Given the description of an element on the screen output the (x, y) to click on. 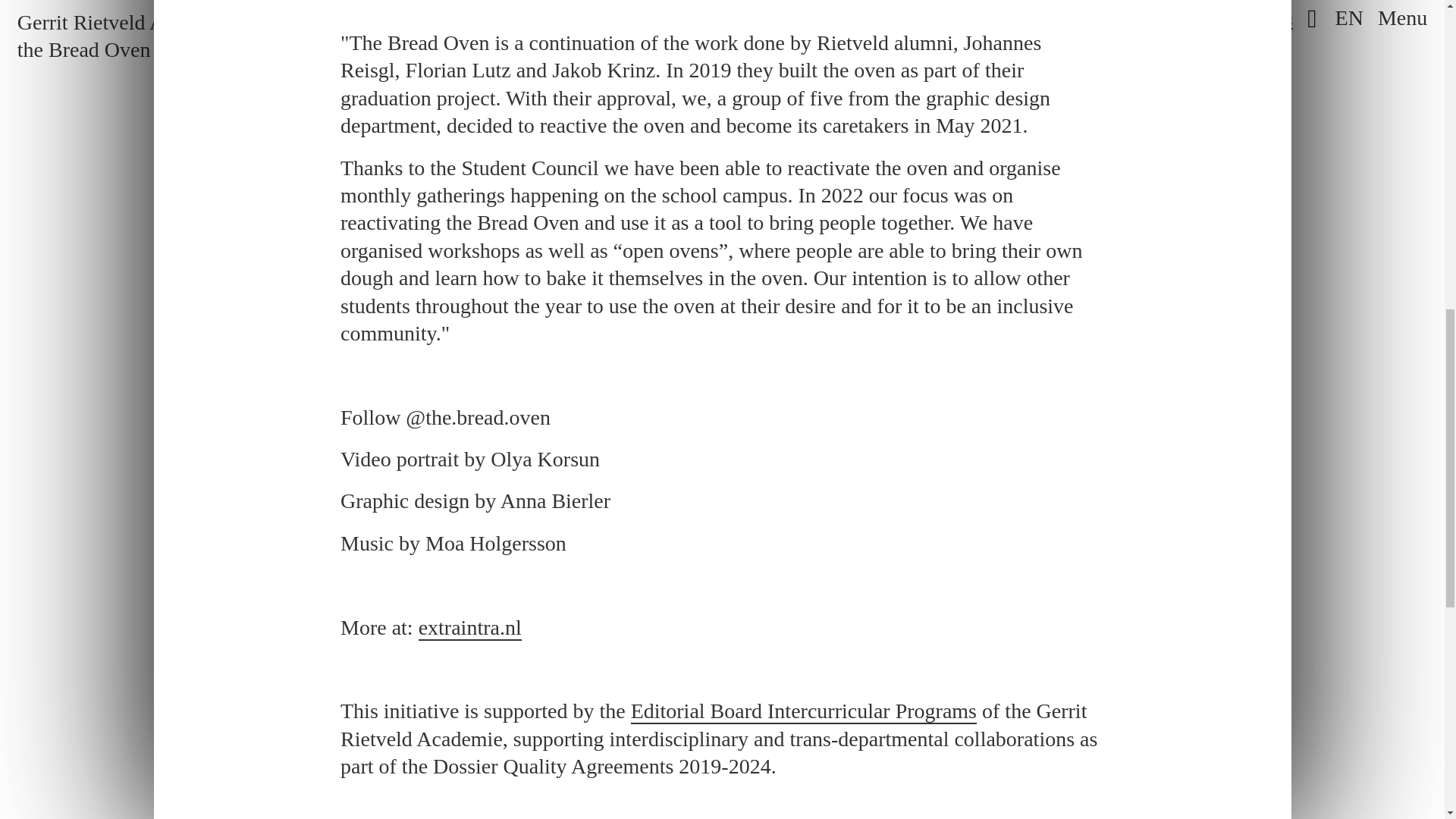
Intercurricular Programs (803, 711)
